Given the description of an element on the screen output the (x, y) to click on. 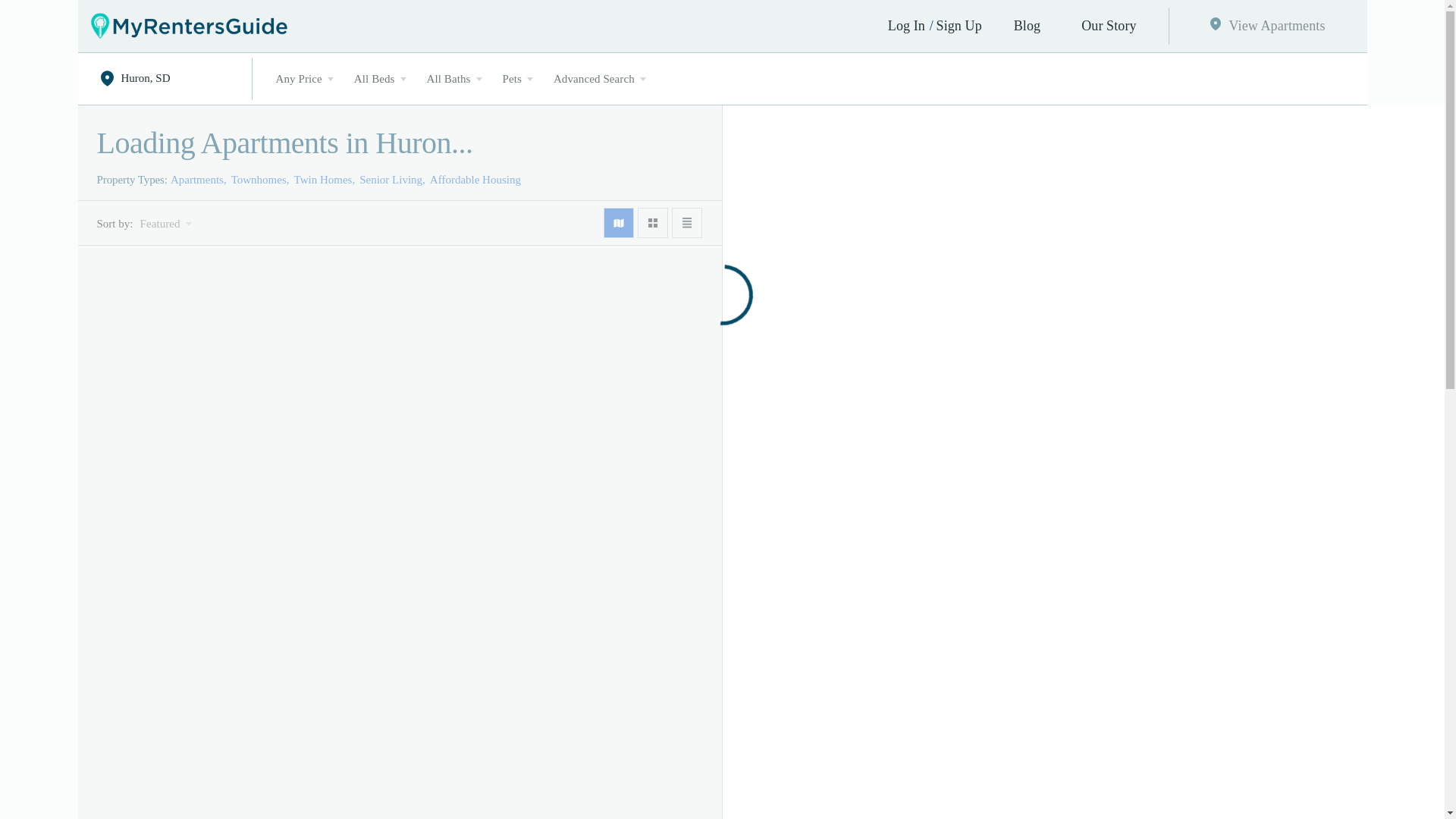
Advanced Search (593, 78)
Affordable Housing (477, 179)
Twin Homes (326, 179)
My Renters Guide - Apartments and Homes for Rent (187, 25)
Blog (1026, 26)
Any Price (298, 78)
Pets (512, 78)
Sign Up (959, 26)
All Beds (374, 78)
Apartments (200, 179)
Senior Living (394, 179)
Our Story (1108, 26)
Log In (905, 26)
Featured (162, 224)
